Given the description of an element on the screen output the (x, y) to click on. 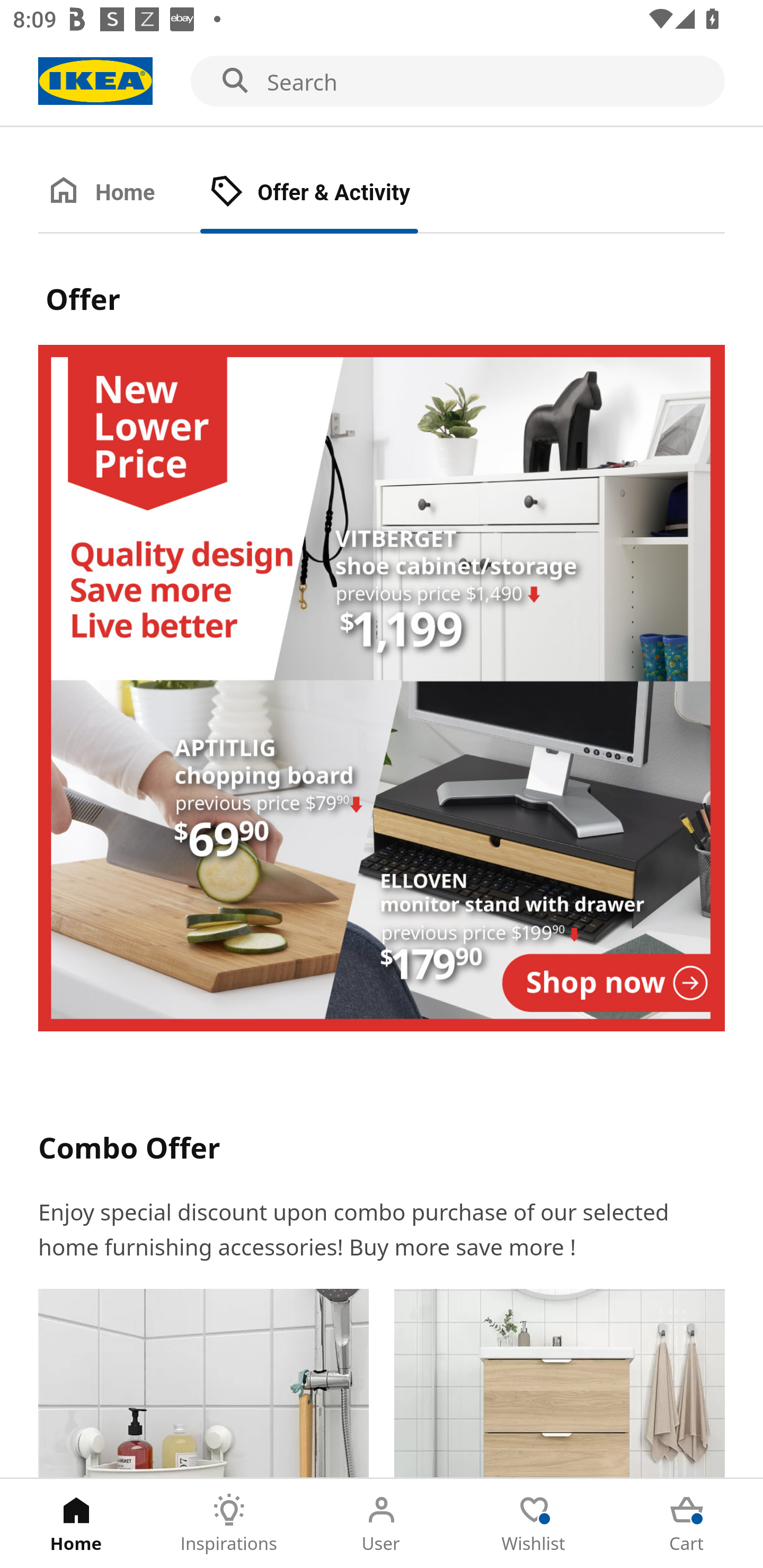
Search (381, 81)
Home
Tab 1 of 2 (118, 192)
Offer & Activity
Tab 2 of 2 (327, 192)
Home
Tab 1 of 5 (76, 1522)
Inspirations
Tab 2 of 5 (228, 1522)
User
Tab 3 of 5 (381, 1522)
Wishlist
Tab 4 of 5 (533, 1522)
Cart
Tab 5 of 5 (686, 1522)
